Given the description of an element on the screen output the (x, y) to click on. 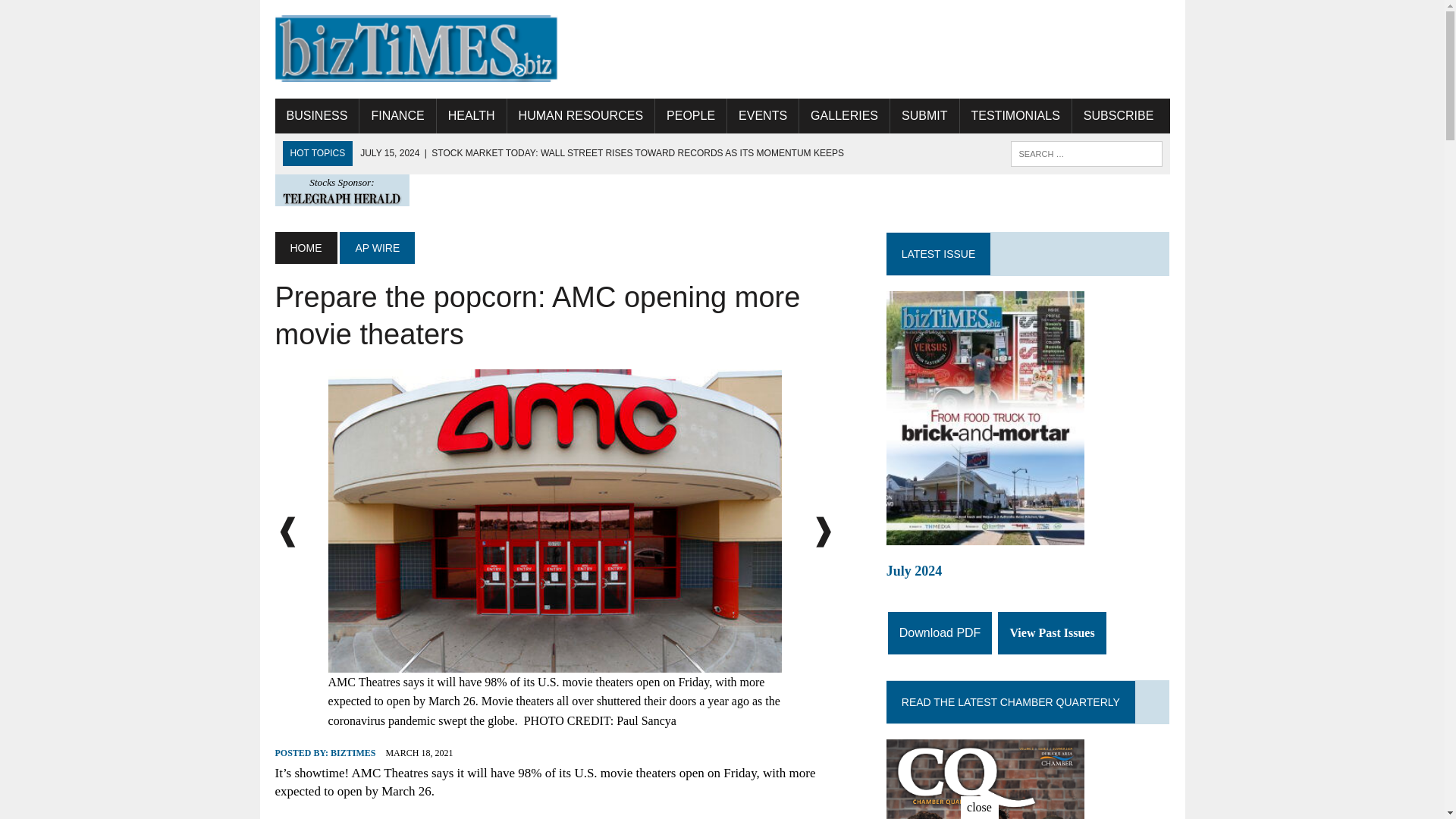
GALLERIES (844, 115)
TESTIMONIALS (1015, 115)
3rd party ad content (893, 49)
BizTimes.biz (416, 48)
PEOPLE (690, 115)
HUMAN RESOURCES (579, 115)
SUBSCRIBE (1117, 115)
HEALTH (471, 115)
EVENTS (761, 115)
SUBMIT (923, 115)
BUSINESS (316, 115)
FINANCE (397, 115)
